Given the description of an element on the screen output the (x, y) to click on. 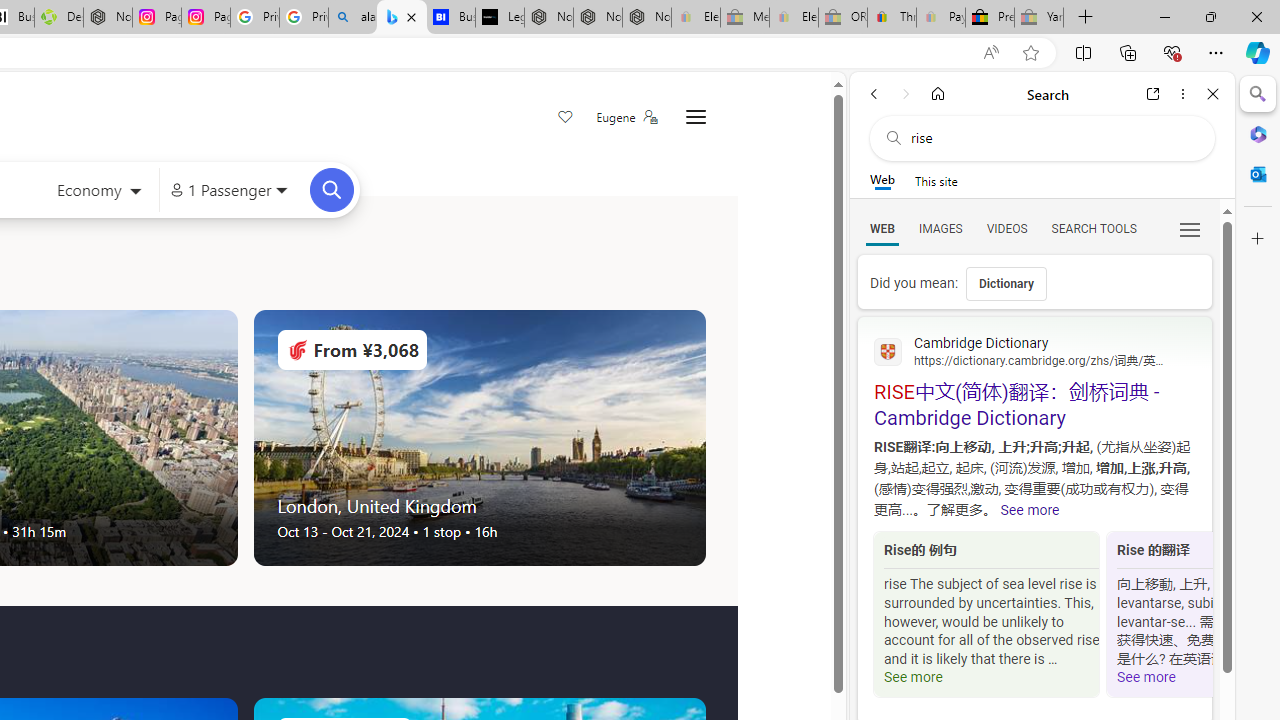
Airlines Logo (297, 349)
Threats and offensive language policy | eBay (891, 17)
Eugene (626, 117)
Select class of service (98, 192)
